Given the description of an element on the screen output the (x, y) to click on. 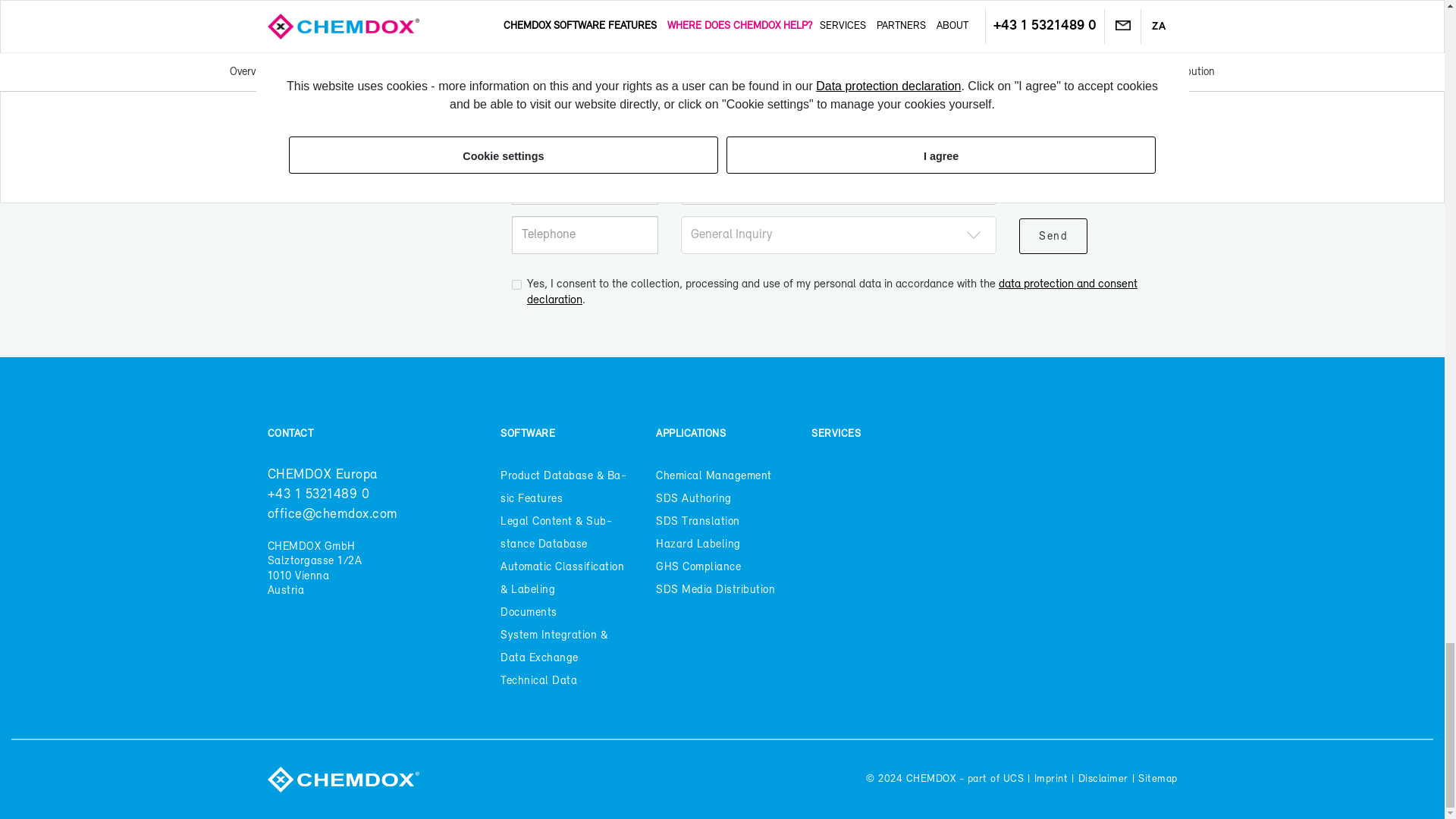
Send (1053, 235)
on (516, 284)
